Given the description of an element on the screen output the (x, y) to click on. 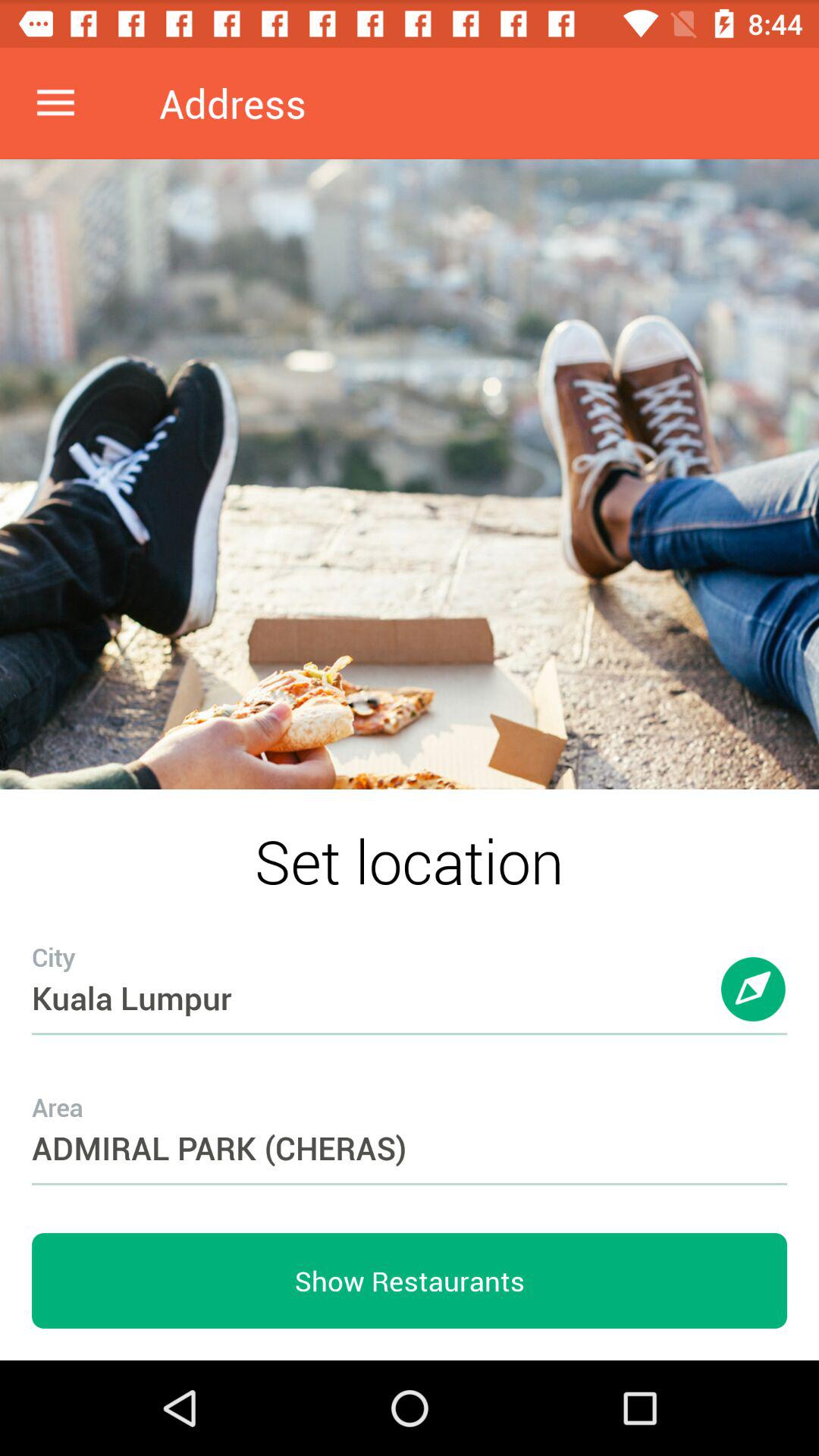
tap the icon below the admiral park (cheras) (409, 1280)
